Given the description of an element on the screen output the (x, y) to click on. 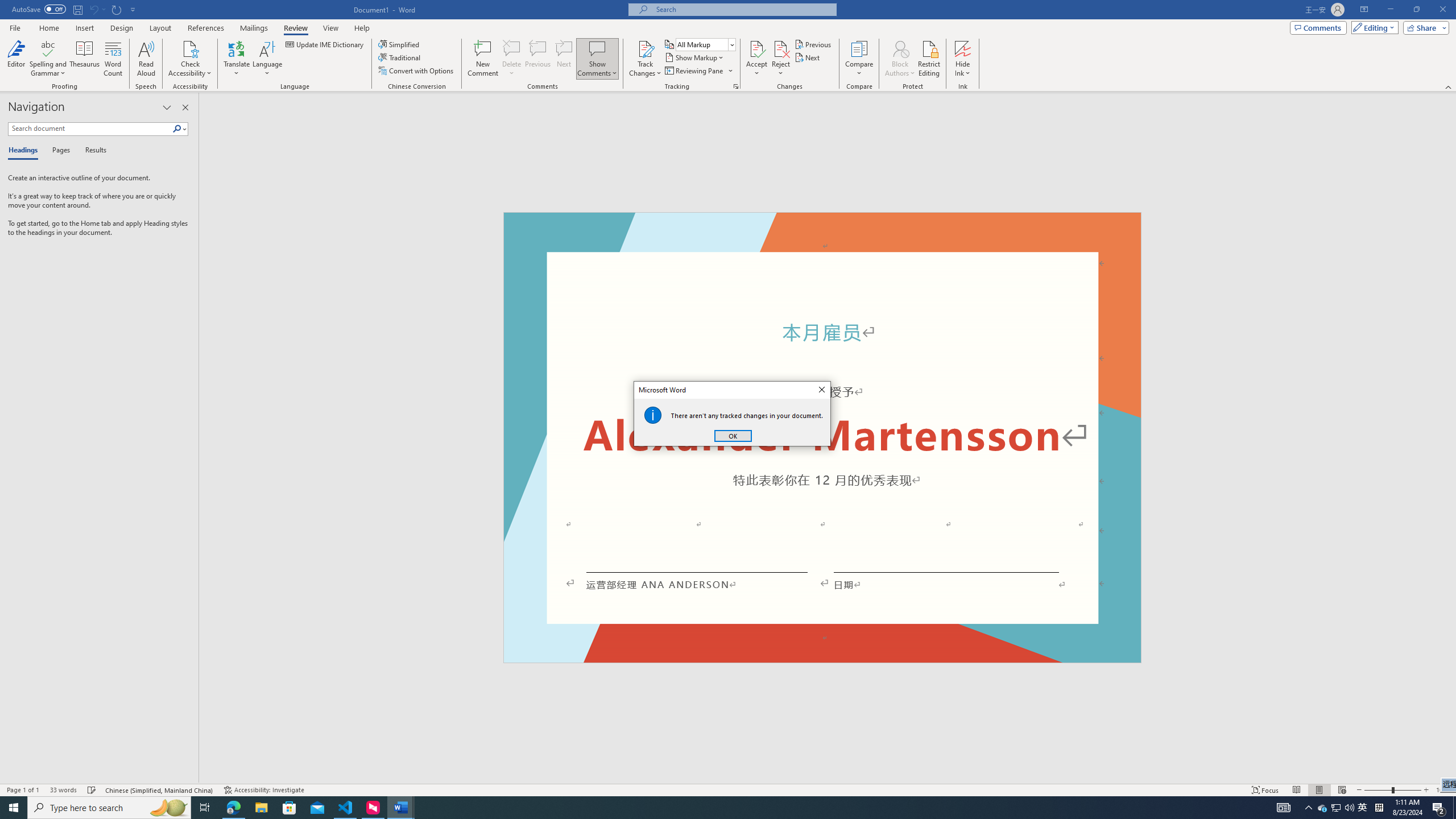
Repeat Doc Close (117, 9)
Check Accessibility (189, 48)
Task View (204, 807)
Page Number Page 1 of 1 (22, 790)
Show Comments (597, 48)
Reject and Move to Next (780, 48)
Change Tracking Options... (1362, 807)
Can't Undo (735, 85)
